Given the description of an element on the screen output the (x, y) to click on. 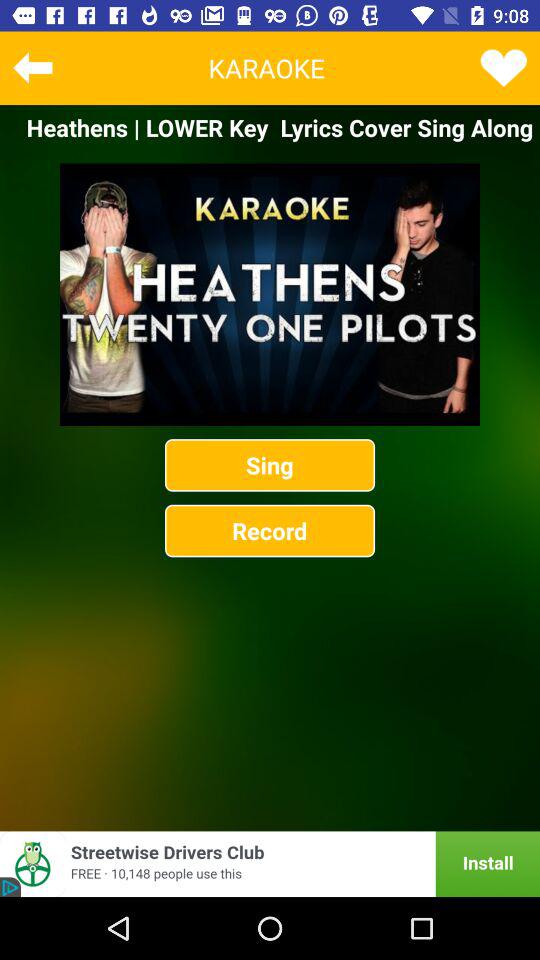
advertisements (270, 864)
